Given the description of an element on the screen output the (x, y) to click on. 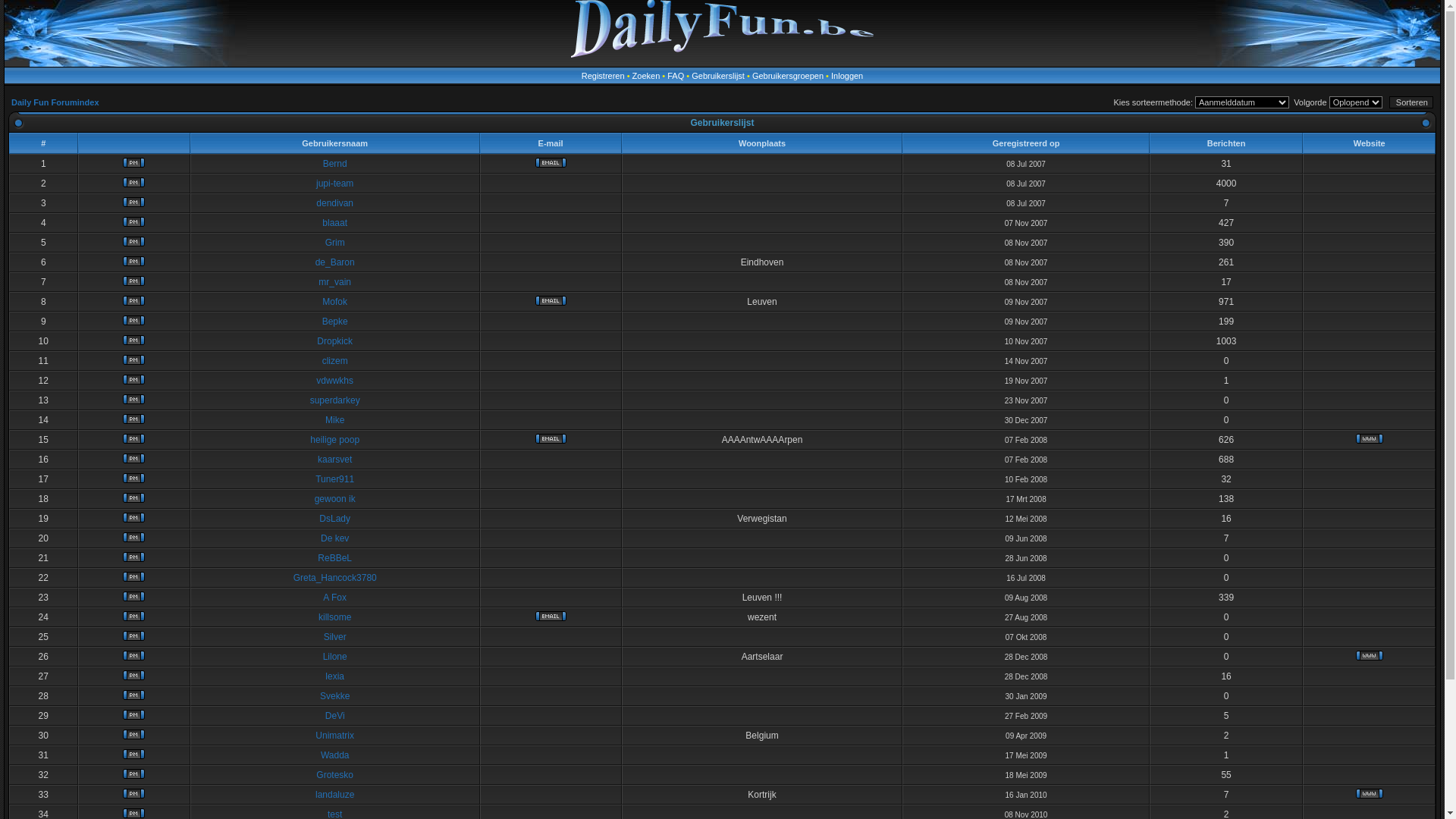
Wadda Element type: text (334, 754)
killsome Element type: text (334, 616)
Unimatrix Element type: text (334, 735)
Bernd Element type: text (335, 163)
Registreren Element type: text (602, 75)
Website bekijken Element type: hover (1369, 793)
vdwwkhs Element type: text (334, 380)
Mike Element type: text (334, 419)
Gebruikersgroepen Element type: text (787, 75)
Sorteren Element type: text (1411, 102)
DsLady Element type: text (334, 518)
Gebruikerslijst Element type: text (717, 75)
Dropkick Element type: text (334, 340)
Silver Element type: text (334, 636)
clizem Element type: text (335, 360)
Mofok Element type: text (334, 301)
De kev Element type: text (334, 538)
Bepke Element type: text (335, 321)
Website bekijken Element type: hover (1369, 655)
E-mail versturen Element type: hover (550, 300)
Grotesko Element type: text (334, 774)
Daily Fun Forumindex Element type: text (55, 101)
jupi-team Element type: text (334, 183)
E-mail versturen Element type: hover (550, 162)
Inloggen Element type: text (846, 75)
lexia Element type: text (334, 676)
landaluze Element type: text (334, 794)
Greta_Hancock3780 Element type: text (334, 577)
Tuner911 Element type: text (334, 478)
Svekke Element type: text (334, 695)
DeVi Element type: text (335, 715)
E-mail versturen Element type: hover (550, 616)
FAQ Element type: text (675, 75)
ReBBeL Element type: text (334, 557)
mr_vain Element type: text (334, 281)
Website bekijken Element type: hover (1369, 438)
dendivan Element type: text (334, 202)
superdarkey Element type: text (335, 400)
blaaat Element type: text (334, 222)
E-mail versturen Element type: hover (550, 438)
gewoon ik Element type: text (334, 498)
kaarsvet Element type: text (334, 459)
heilige poop Element type: text (334, 439)
A Fox Element type: text (334, 597)
Zoeken Element type: text (646, 75)
de_Baron Element type: text (334, 262)
Lilone Element type: text (335, 656)
Grim Element type: text (335, 242)
